Given the description of an element on the screen output the (x, y) to click on. 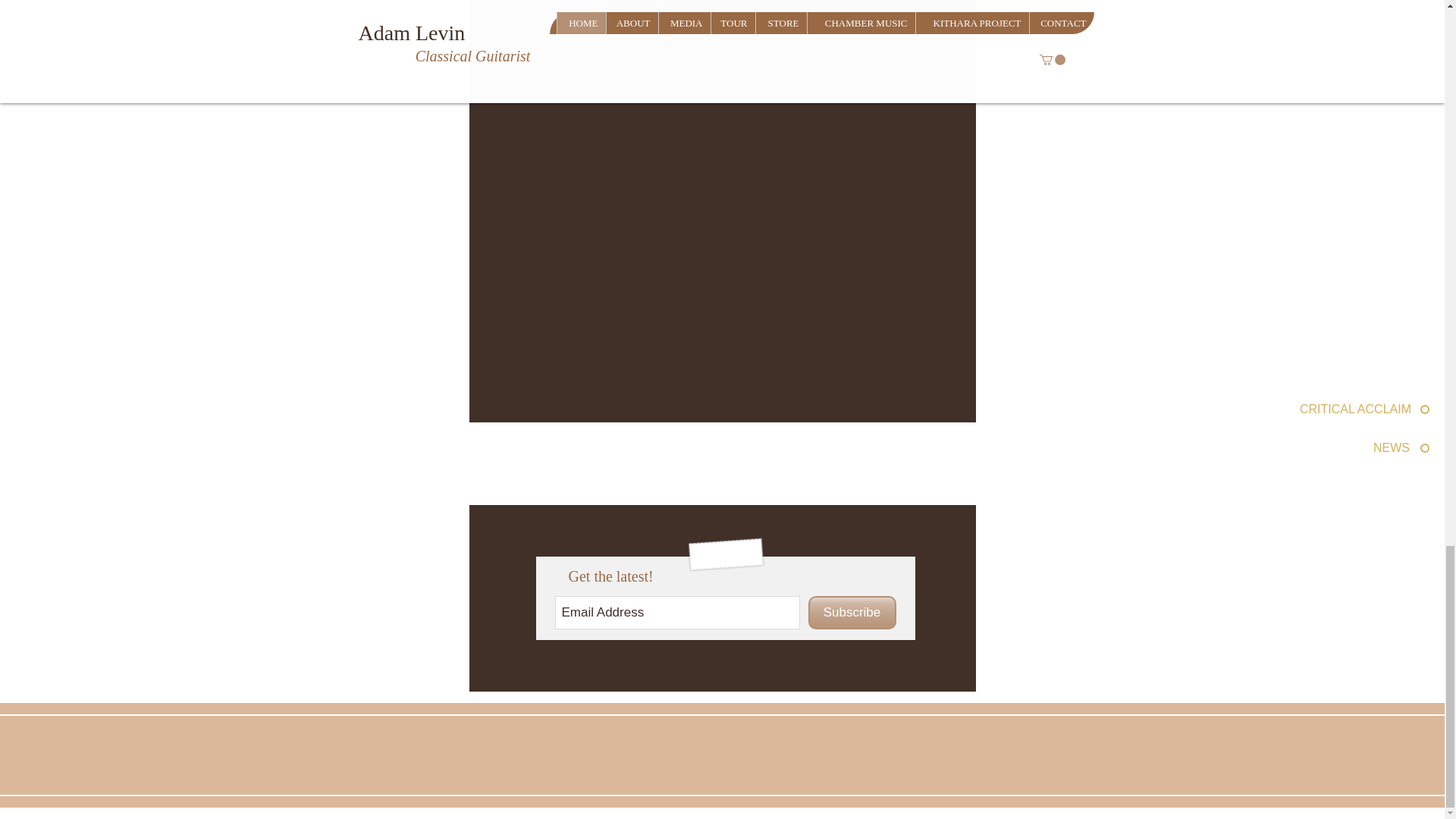
Subscribe (852, 612)
